Given the description of an element on the screen output the (x, y) to click on. 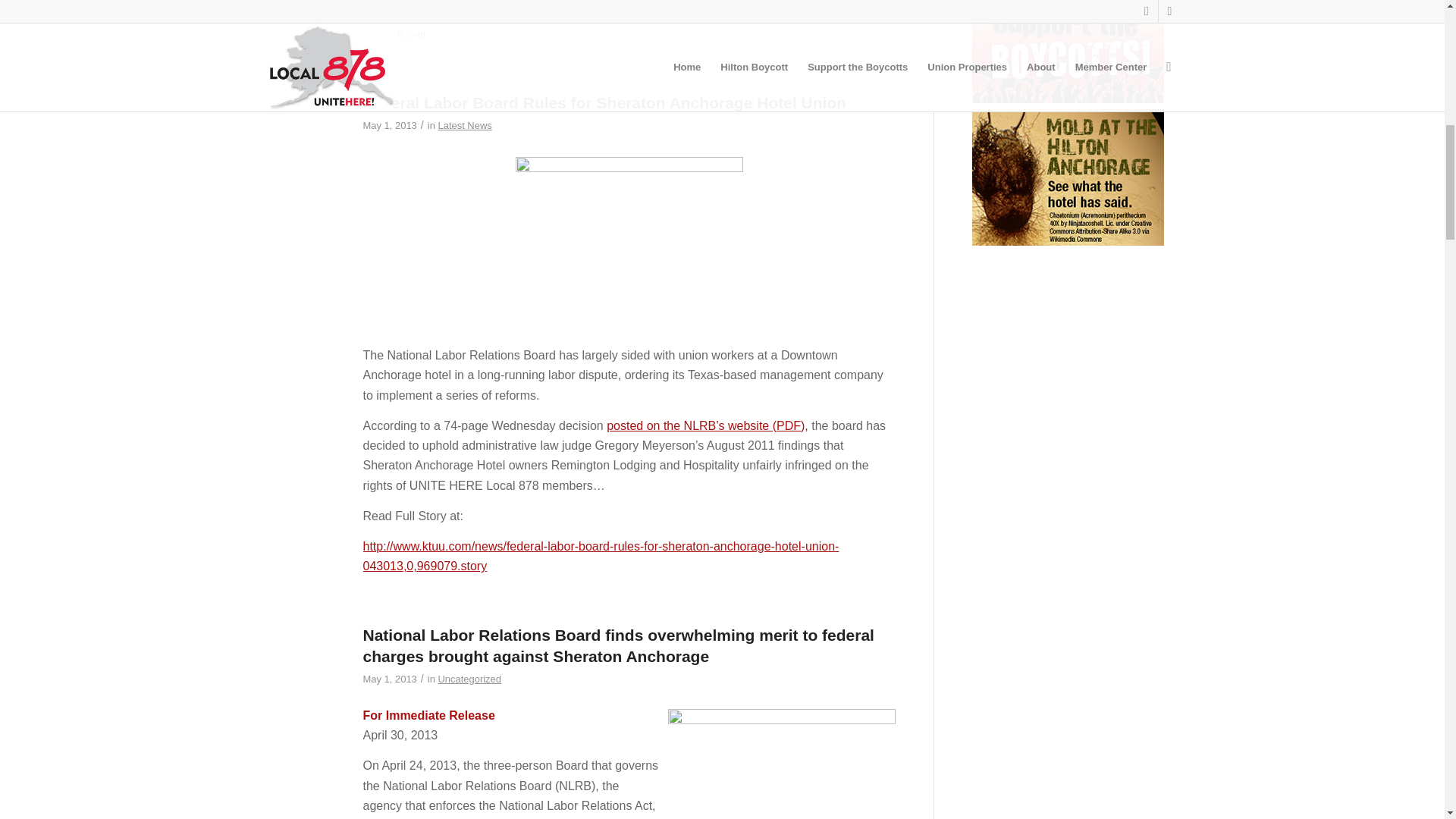
Federal Labor Board Rules for Sheraton Anchorage Hotel Union (293, 127)
Latest News (465, 125)
Federal Labor Board Rules for Sheraton Anchorage Hotel Union (603, 102)
Sheraton picket (781, 764)
Uncategorized (469, 678)
